Given the description of an element on the screen output the (x, y) to click on. 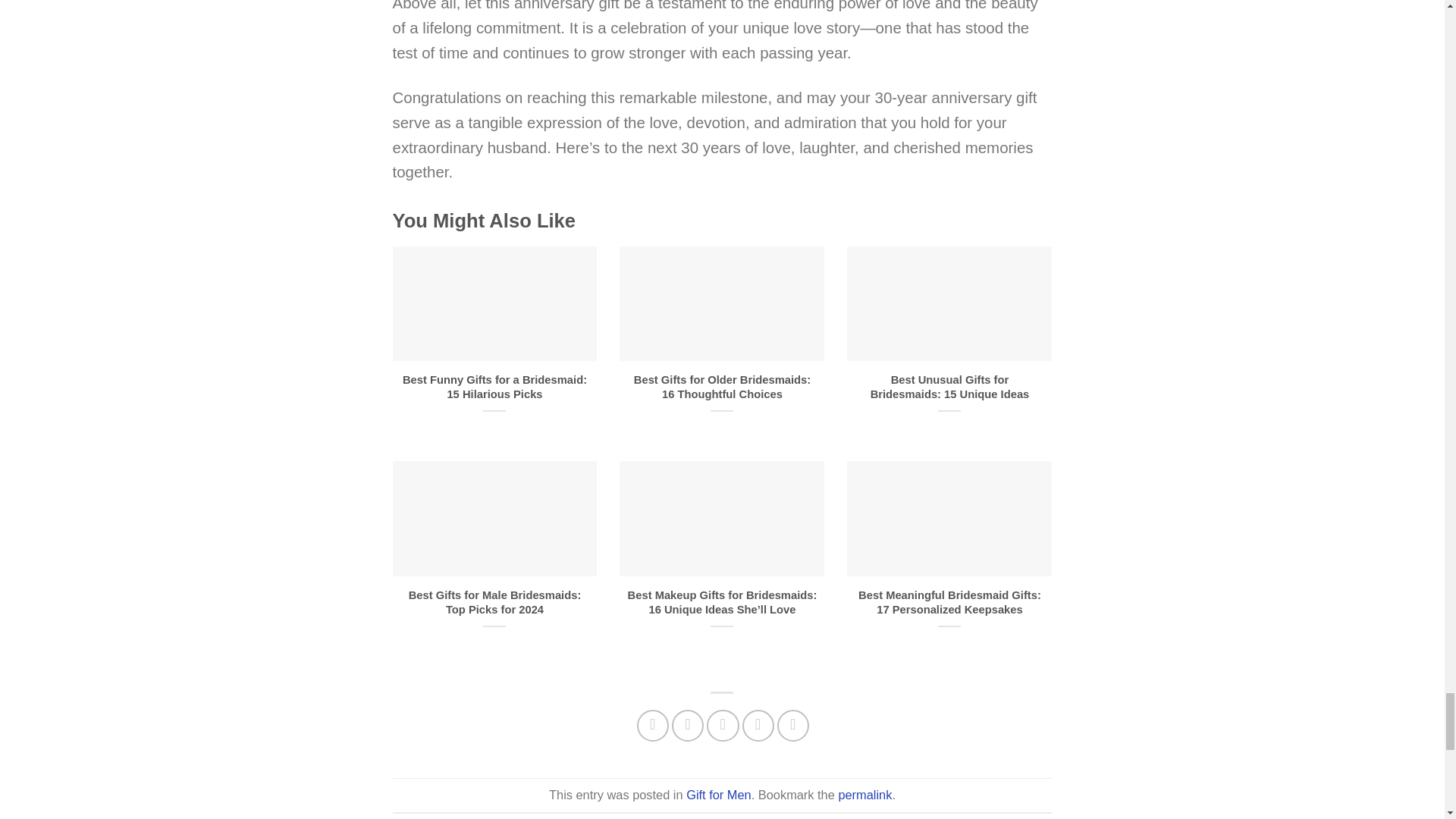
Share on Twitter (687, 726)
Best Gifts for Male Bridesmaids: Top Picks for 2024 (494, 602)
Best Funny Gifts for a Bridesmaid: 15 Hilarious Picks (494, 387)
Email to a Friend (722, 726)
Best Meaningful Bridesmaid Gifts: 17 Personalized Keepsakes (948, 602)
Share on LinkedIn (793, 726)
Pin on Pinterest (758, 726)
Permalink to Best 30 Year Anniversary Gift for Husband (864, 794)
Best Gifts for Older Bridesmaids: 16 Thoughtful Choices (721, 387)
Best Unusual Gifts for Bridesmaids: 15 Unique Ideas (948, 387)
